Given the description of an element on the screen output the (x, y) to click on. 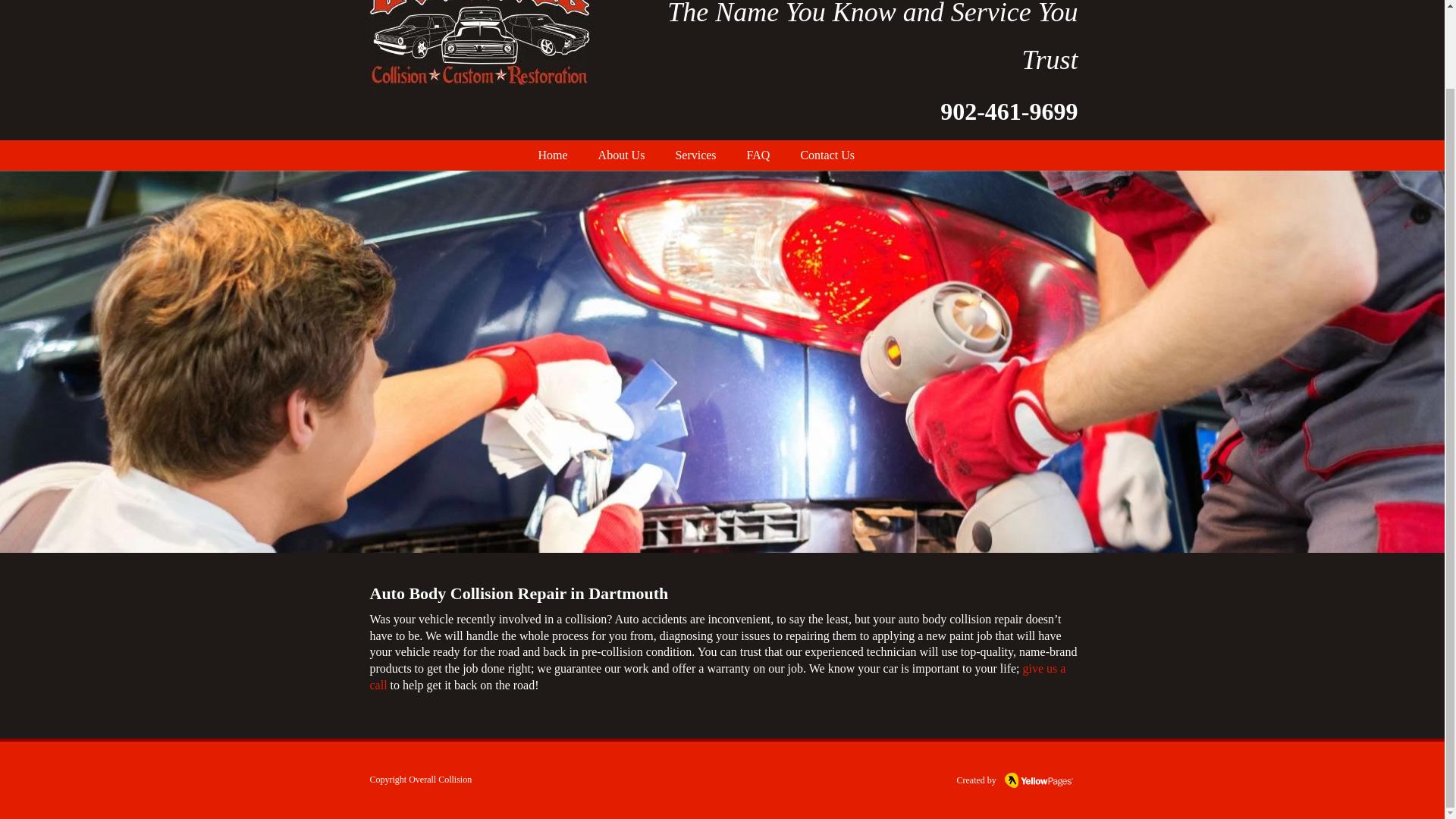
Overall Collision (440, 778)
Services (694, 155)
About Us (622, 155)
give us a call (717, 676)
Contact Us (826, 155)
FAQ (759, 155)
Home (552, 155)
902-461-9699 (1008, 117)
